Given the description of an element on the screen output the (x, y) to click on. 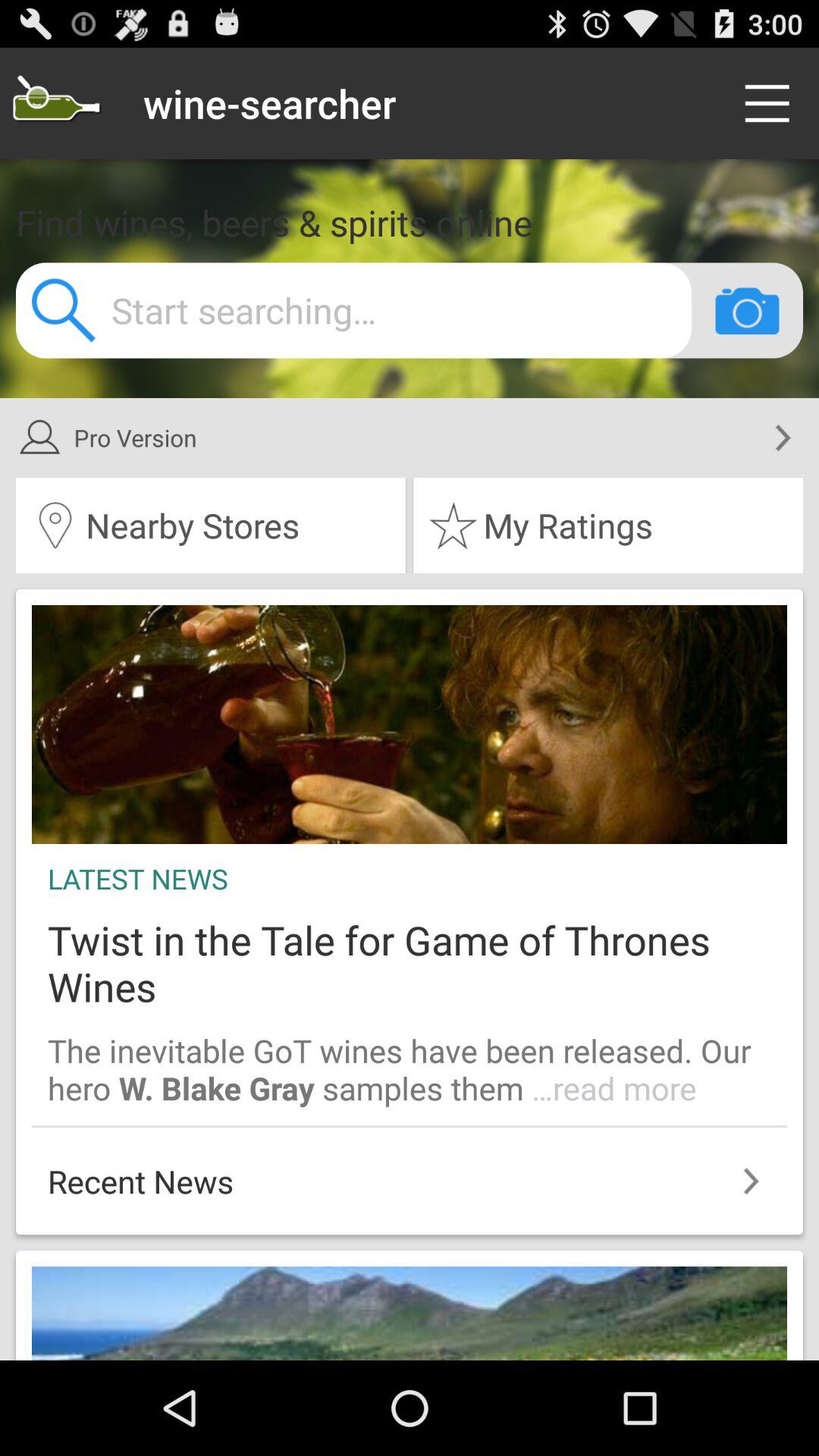
open the icon to the right of nearby stores (608, 525)
